Given the description of an element on the screen output the (x, y) to click on. 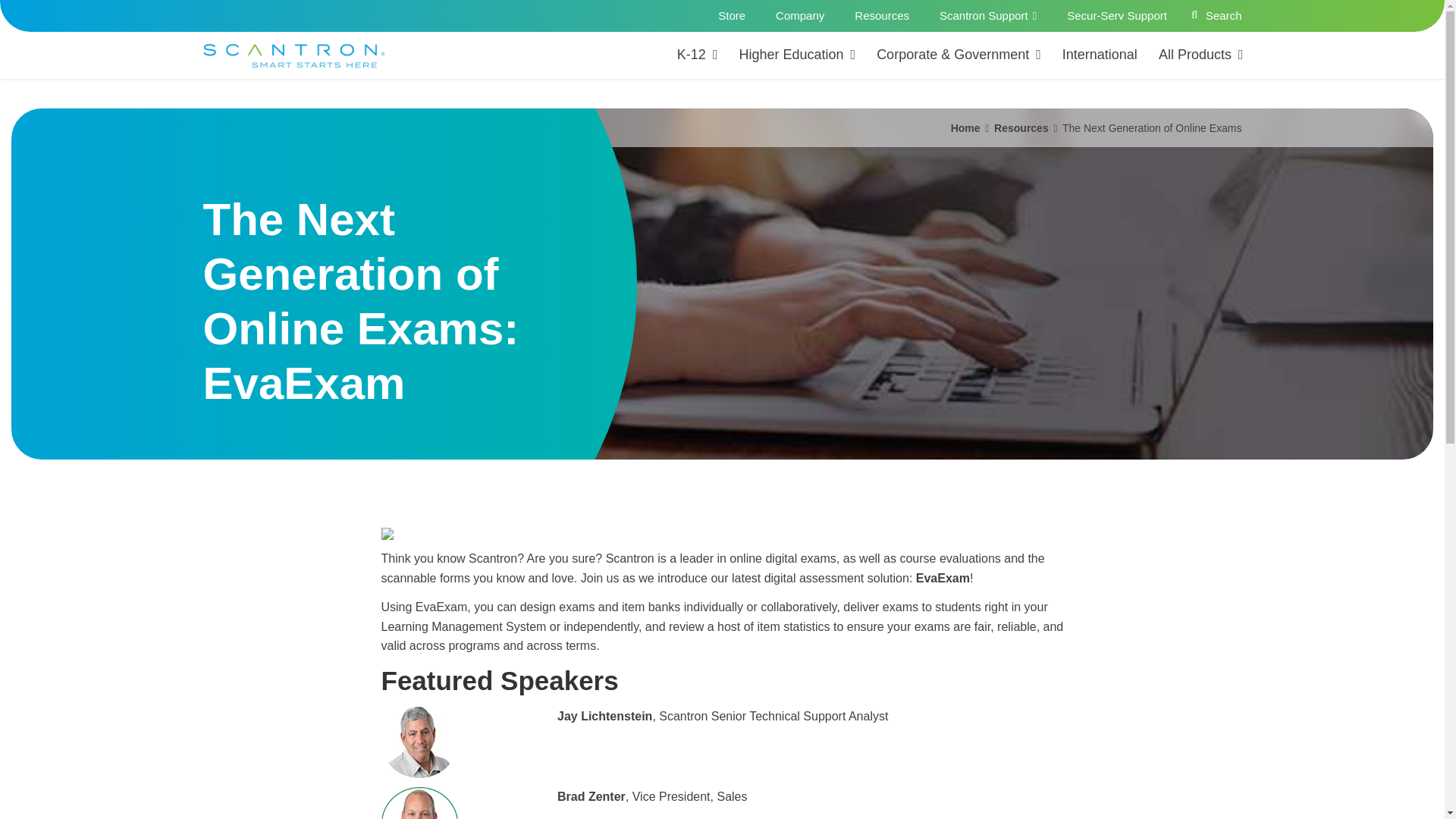
Scantron Support (987, 15)
Secur-Serv Support (1116, 15)
K-12 (697, 54)
Resources (882, 15)
Company (800, 15)
Store (731, 15)
